Given the description of an element on the screen output the (x, y) to click on. 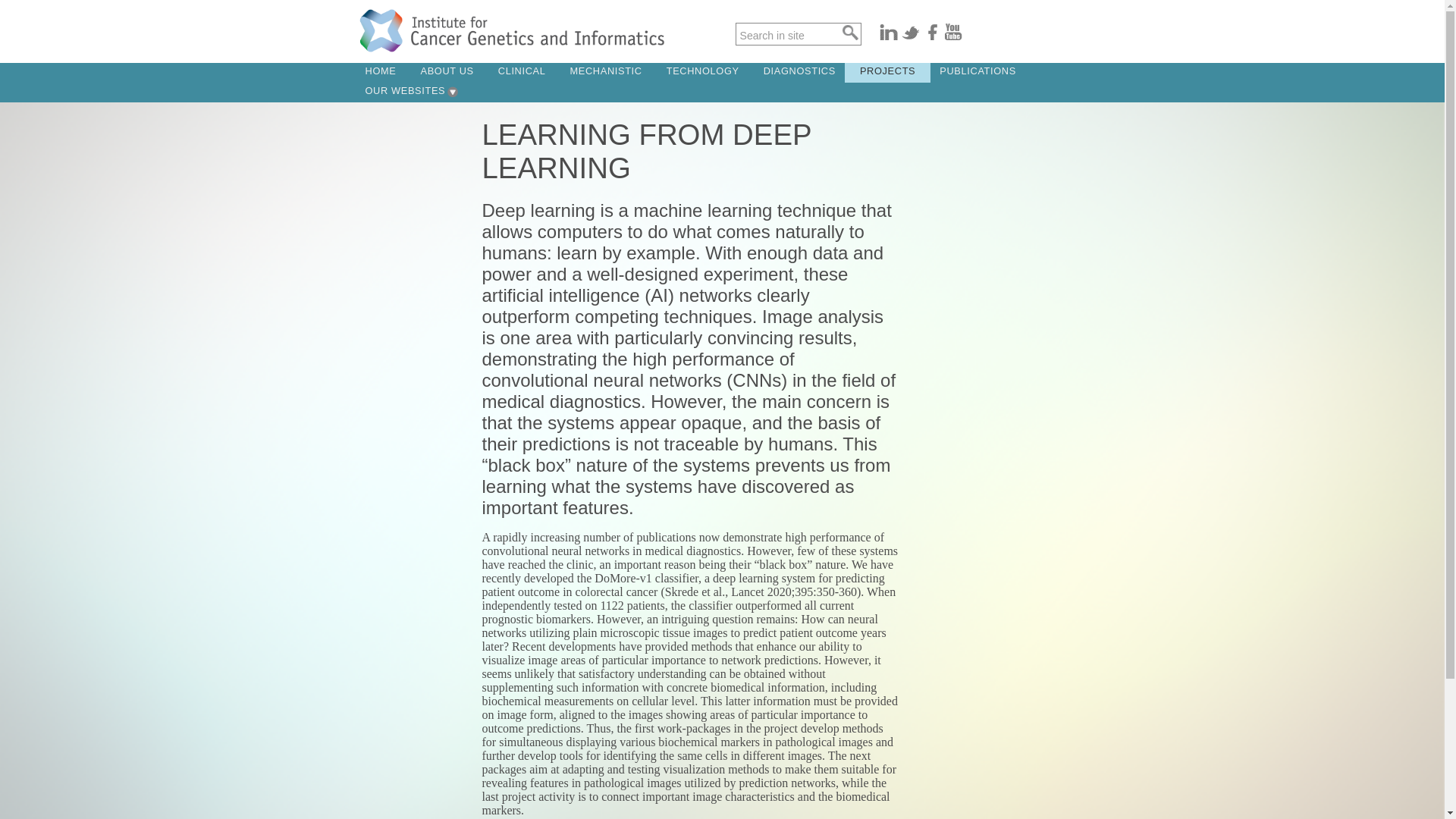
OUR WEBSITES (405, 92)
PUBLICATIONS (977, 72)
PROJECTS (887, 72)
CLINICAL (521, 72)
HOME (381, 72)
DIAGNOSTICS (799, 72)
ABOUT US (445, 72)
MECHANISTIC (606, 72)
TECHNOLOGY (702, 72)
